Given the description of an element on the screen output the (x, y) to click on. 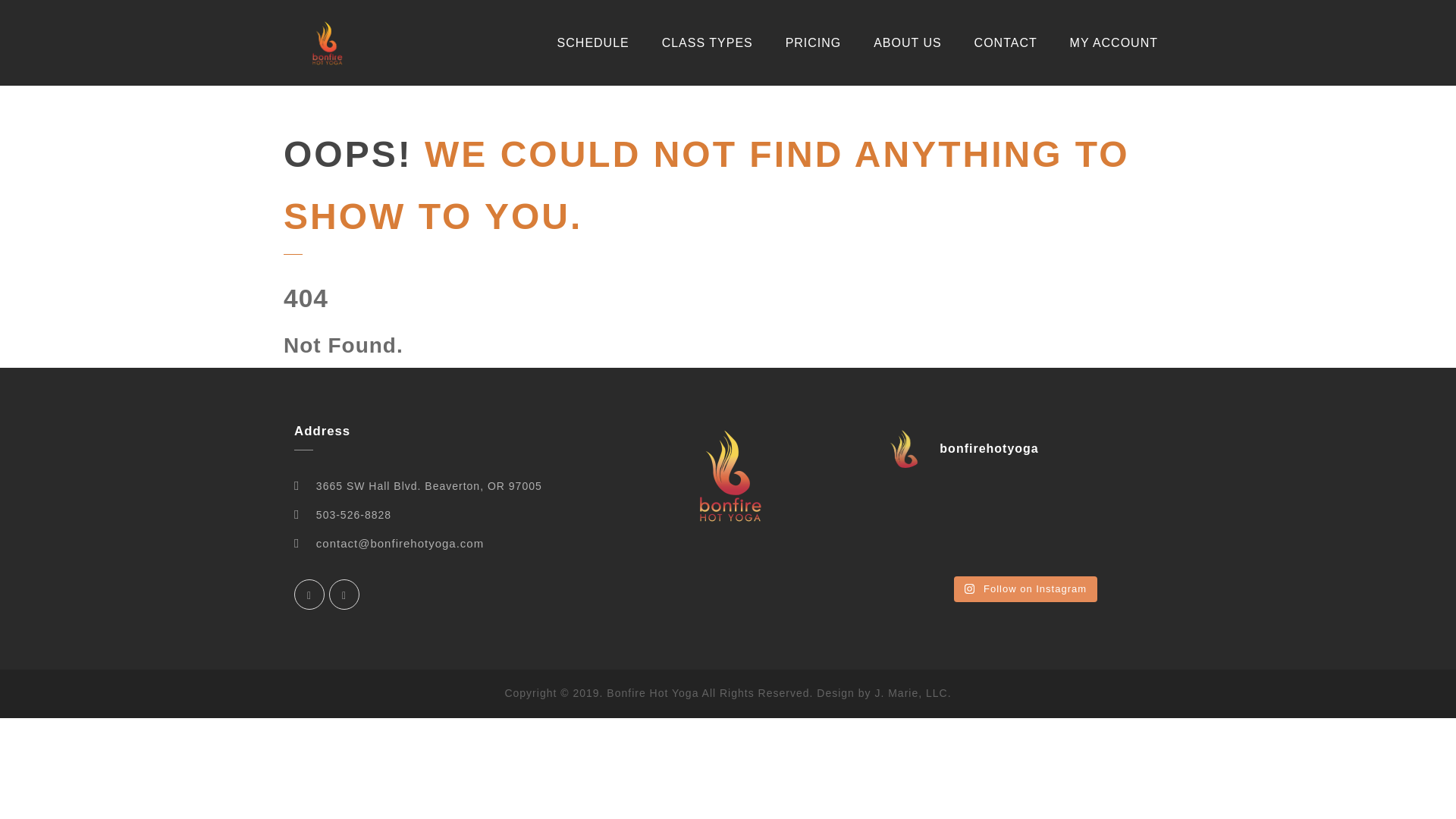
MY ACCOUNT (1113, 42)
CONTACT (1005, 42)
SCHEDULE (593, 42)
bonfirehotyoga (1023, 448)
Follow on Instagram (1025, 588)
Instagram (344, 594)
CLASS TYPES (707, 42)
PRICING (813, 42)
ABOUT US (907, 42)
Facebook (309, 594)
